Given the description of an element on the screen output the (x, y) to click on. 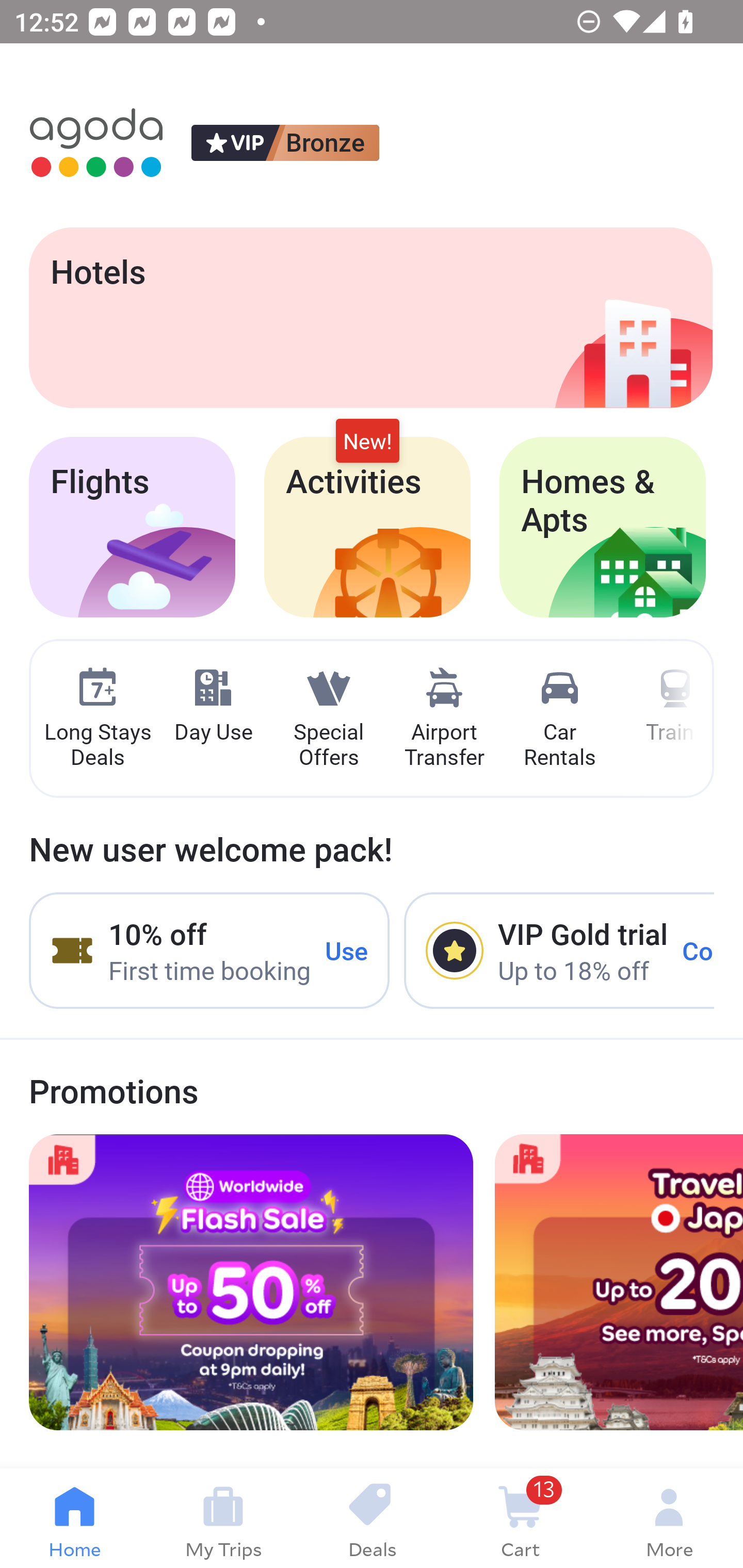
Hotels (370, 317)
New! (367, 441)
Flights (131, 527)
Activities (367, 527)
Homes & Apts (602, 527)
Day Use (213, 706)
Long Stays Deals (97, 718)
Special Offers (328, 718)
Airport Transfer (444, 718)
Car Rentals (559, 718)
Use (346, 950)
Home (74, 1518)
My Trips (222, 1518)
Deals (371, 1518)
13 Cart (519, 1518)
More (668, 1518)
